Given the description of an element on the screen output the (x, y) to click on. 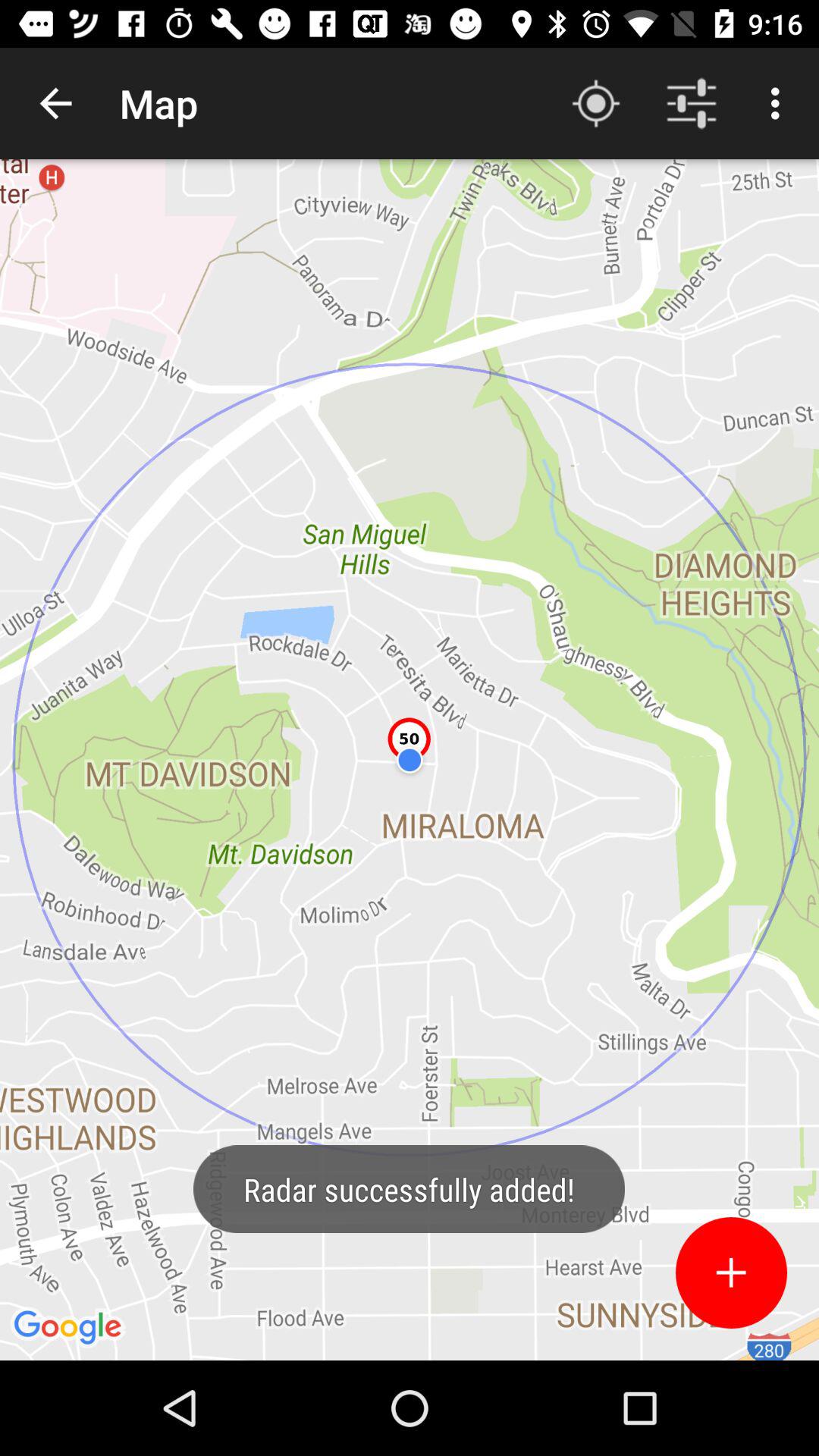
choose item at the center (409, 759)
